Given the description of an element on the screen output the (x, y) to click on. 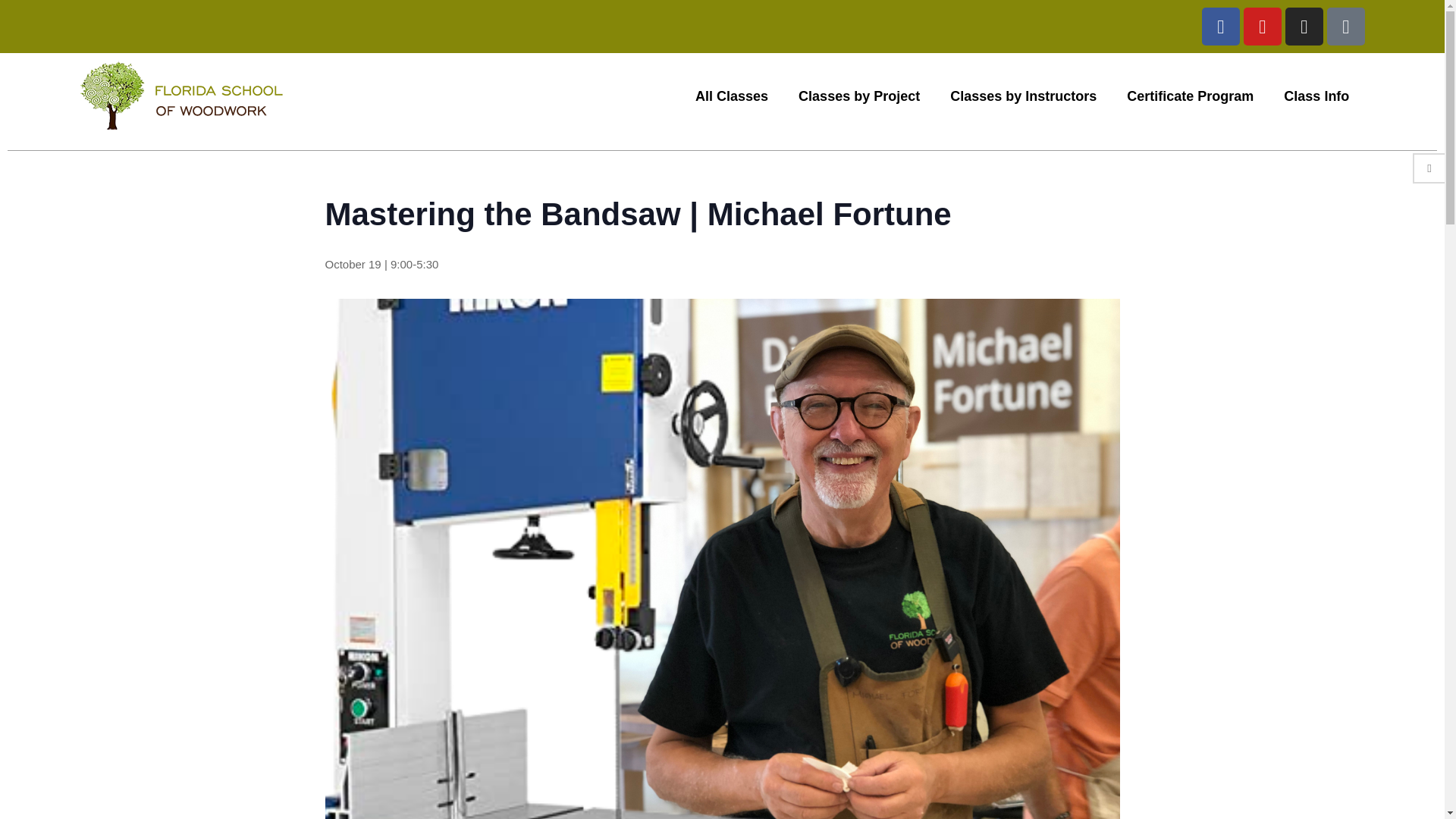
Classes by Instructors (1023, 95)
All Classes (731, 95)
Classes by Project (858, 95)
Certificate Program (1190, 95)
Class Info (1316, 95)
